Given the description of an element on the screen output the (x, y) to click on. 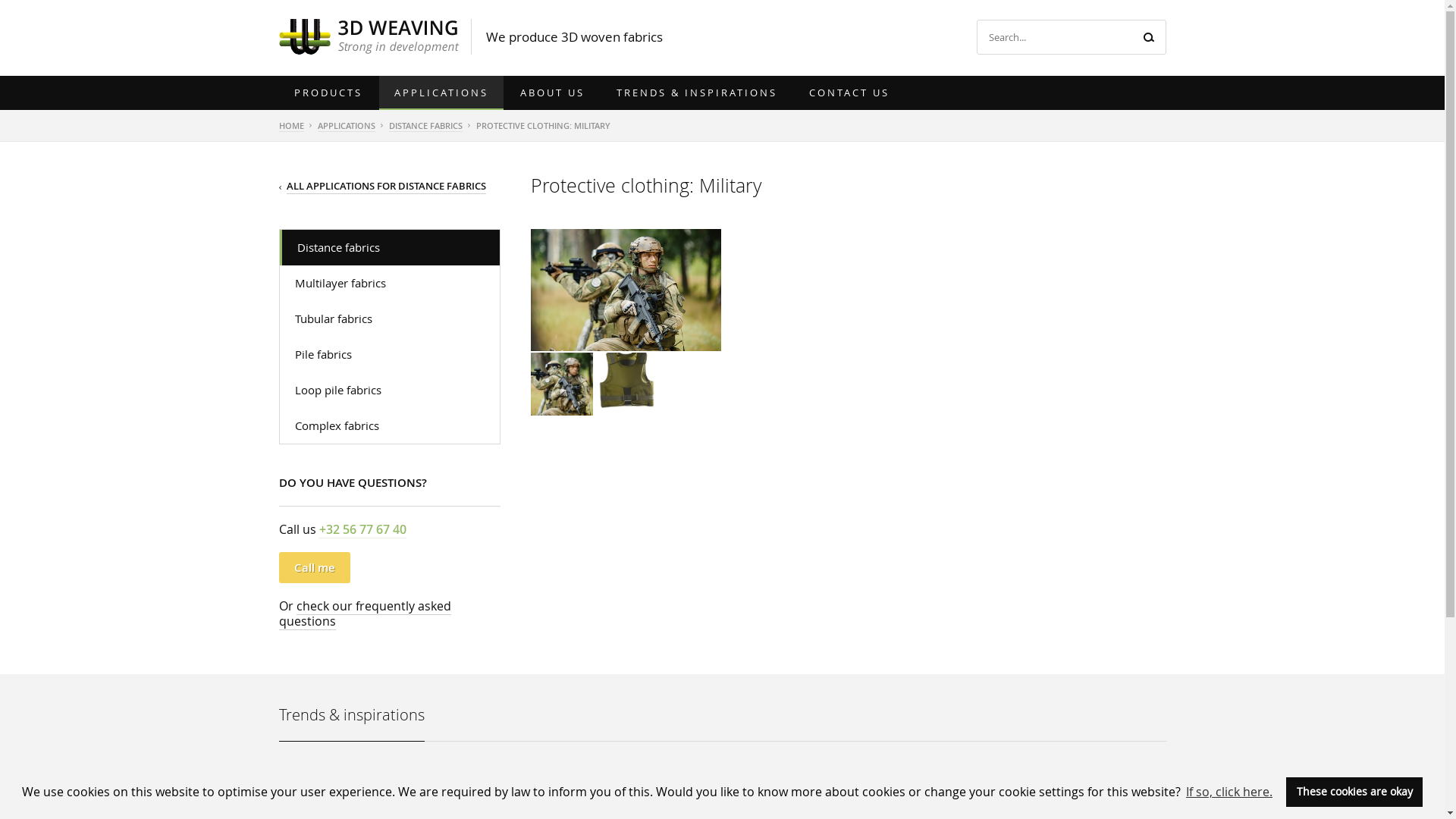
If so, click here. Element type: text (1228, 791)
PRODUCTS Element type: text (328, 92)
Tubular fabrics Element type: text (389, 318)
TRENDS & INSPIRATIONS Element type: text (695, 92)
Search Element type: text (1148, 36)
We produce 3D woven fabrics Element type: text (573, 37)
check our frequently asked questions Element type: text (365, 613)
ALL APPLICATIONS FOR DISTANCE FABRICS Element type: text (386, 186)
Loop pile fabrics Element type: text (389, 389)
Call me Element type: text (314, 567)
HOME Element type: text (291, 125)
Pile fabrics Element type: text (389, 354)
DISTANCE FABRICS Element type: text (424, 125)
Complex fabrics Element type: text (389, 425)
CONTACT US Element type: text (848, 92)
Multilayer fabrics Element type: text (389, 283)
APPLICATIONS Element type: text (345, 125)
3D Weaving Element type: text (369, 36)
APPLICATIONS Element type: text (441, 92)
+32 56 77 67 40 Element type: text (361, 529)
Distance fabrics Element type: text (389, 247)
These cookies are okay Element type: text (1354, 791)
ABOUT US Element type: text (552, 92)
